Given the description of an element on the screen output the (x, y) to click on. 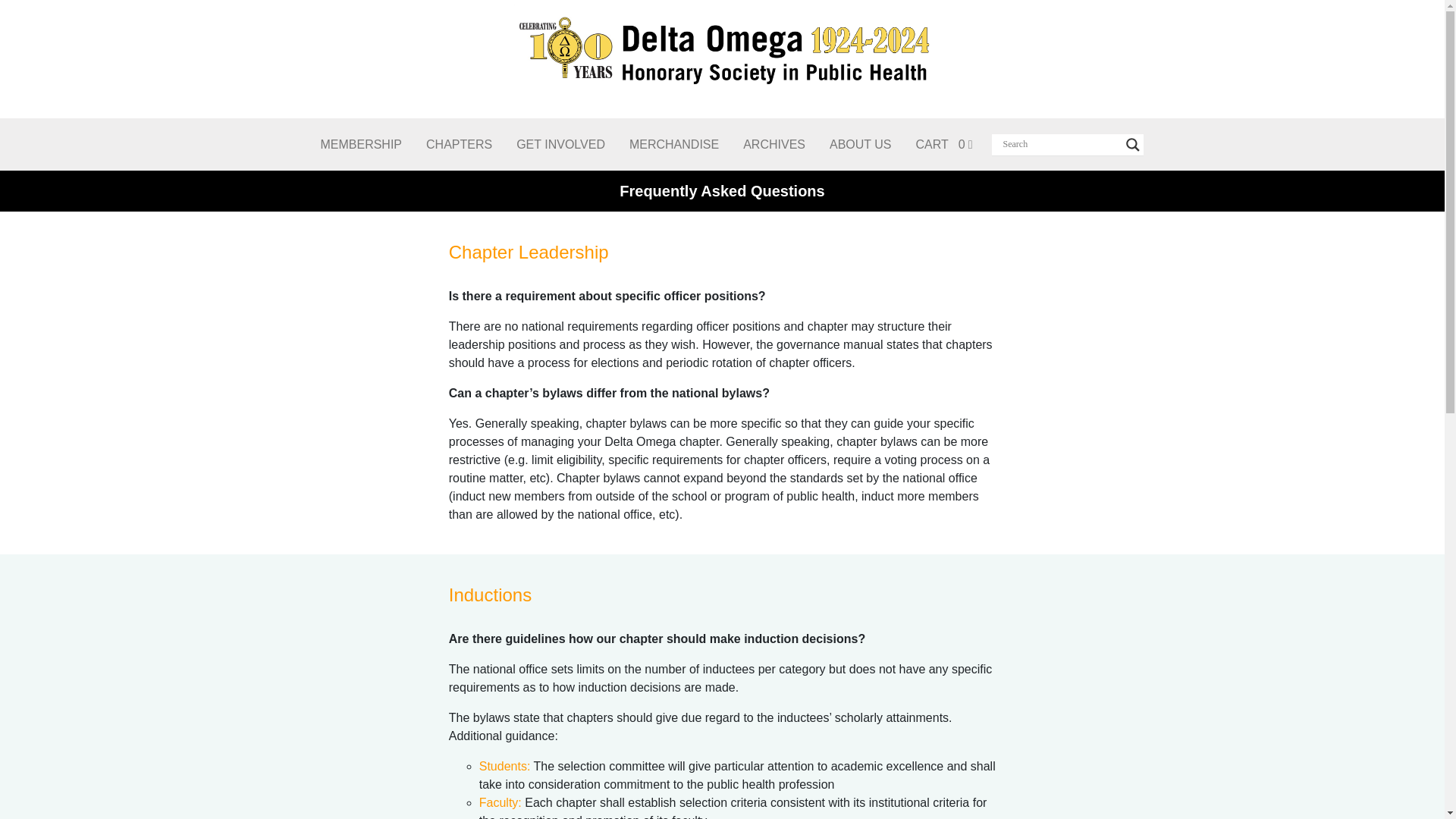
Chapters (458, 144)
Membership (360, 144)
ABOUT US (860, 144)
Get Involved (560, 144)
CART   0 (943, 144)
GET INVOLVED (560, 144)
CHAPTERS (458, 144)
MEMBERSHIP (360, 144)
ARCHIVES (773, 144)
MERCHANDISE (673, 144)
